Given the description of an element on the screen output the (x, y) to click on. 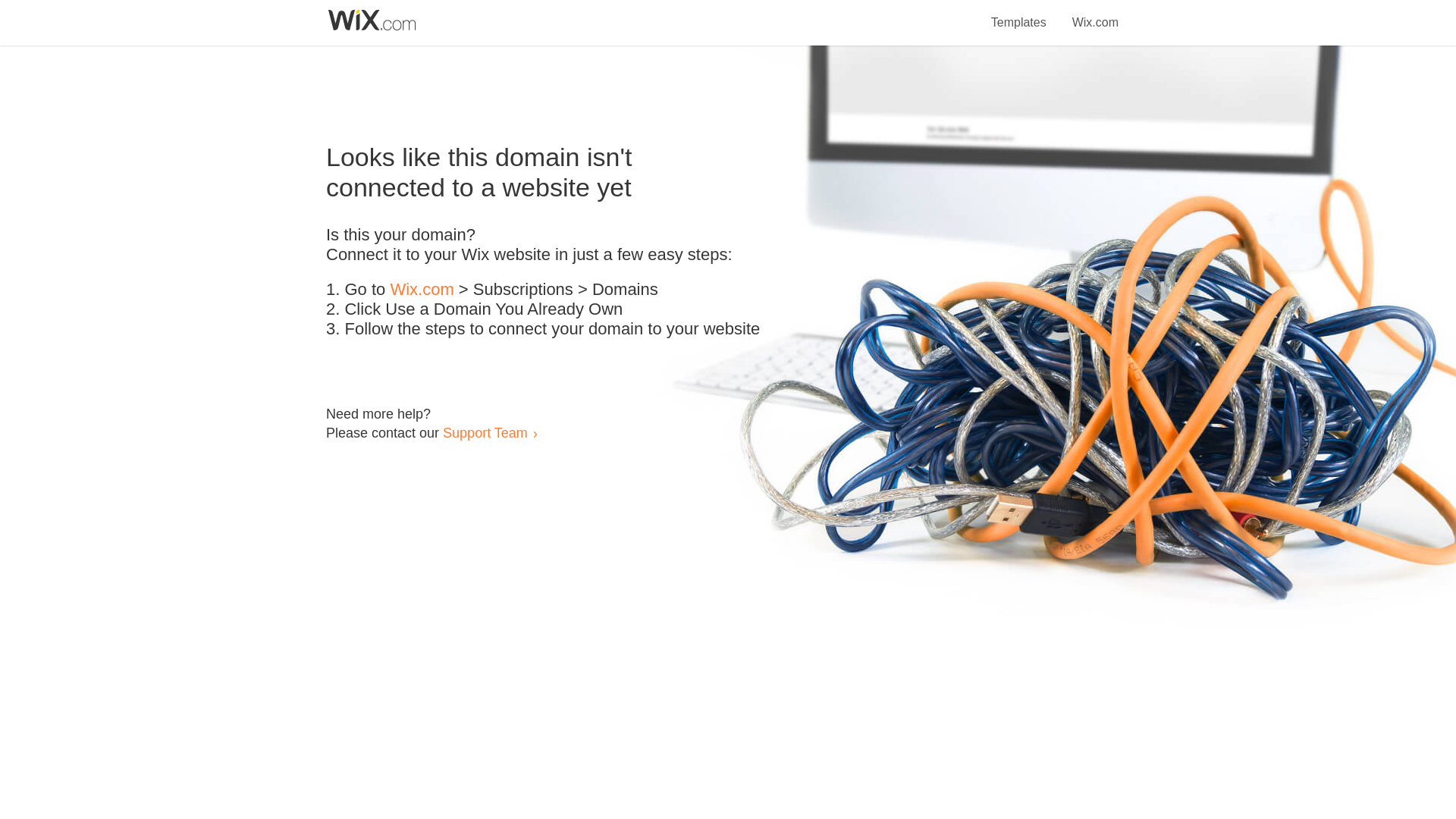
Wix.com (421, 289)
Support Team (484, 432)
Templates (1018, 14)
Wix.com (1095, 14)
